Given the description of an element on the screen output the (x, y) to click on. 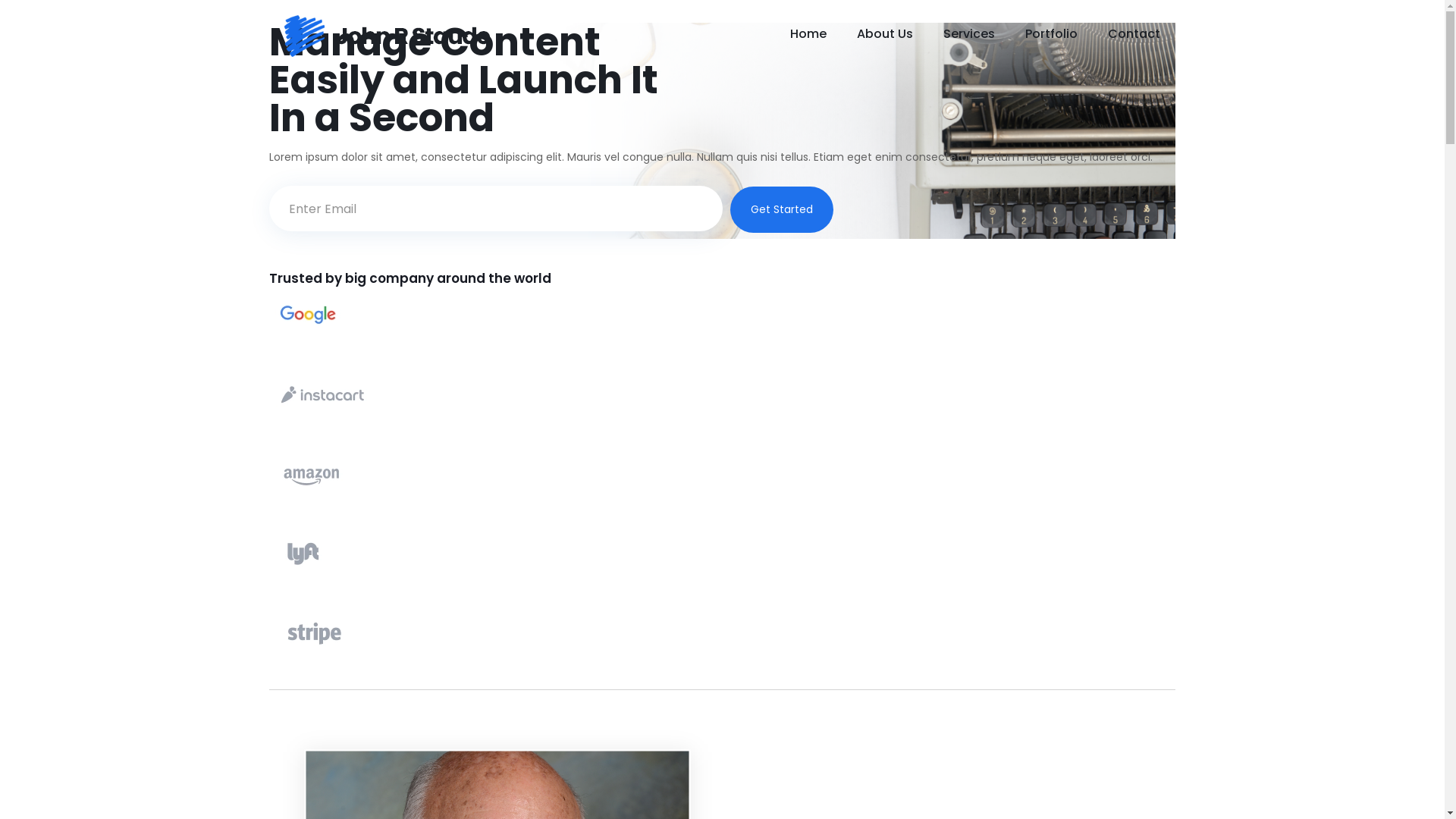
Portfolio Element type: text (1051, 34)
Staude Element type: hover (387, 34)
Services Element type: text (969, 34)
Get Started Element type: text (780, 209)
Home Element type: text (808, 34)
Contact Element type: text (1133, 34)
About Us Element type: text (884, 34)
